Given the description of an element on the screen output the (x, y) to click on. 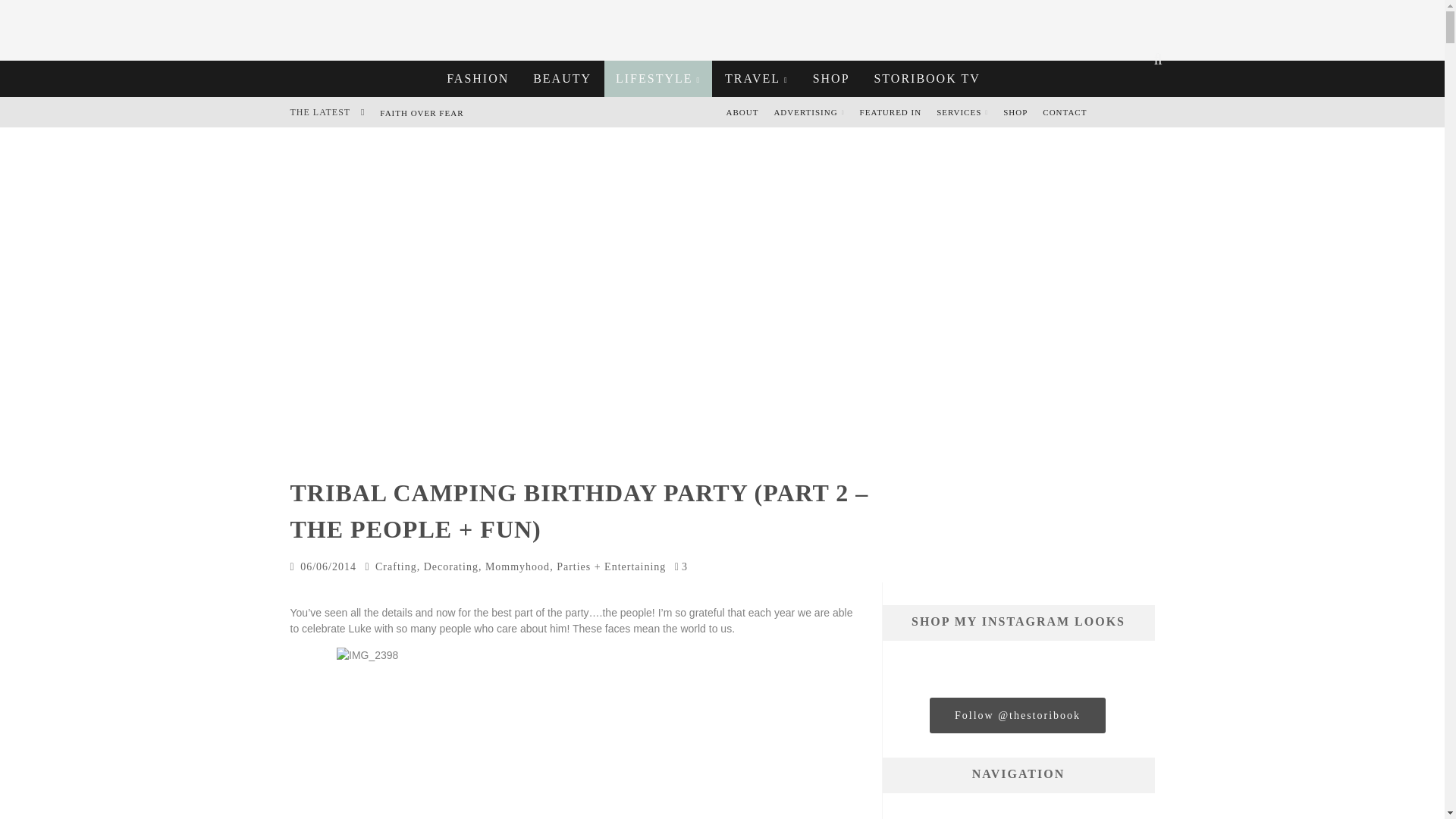
View all posts in Crafting (395, 566)
View all posts in Decorating (451, 566)
BEAUTY (561, 78)
View all posts in Mommyhood (517, 566)
FASHION (477, 78)
Faith Over Fear (421, 112)
